Given the description of an element on the screen output the (x, y) to click on. 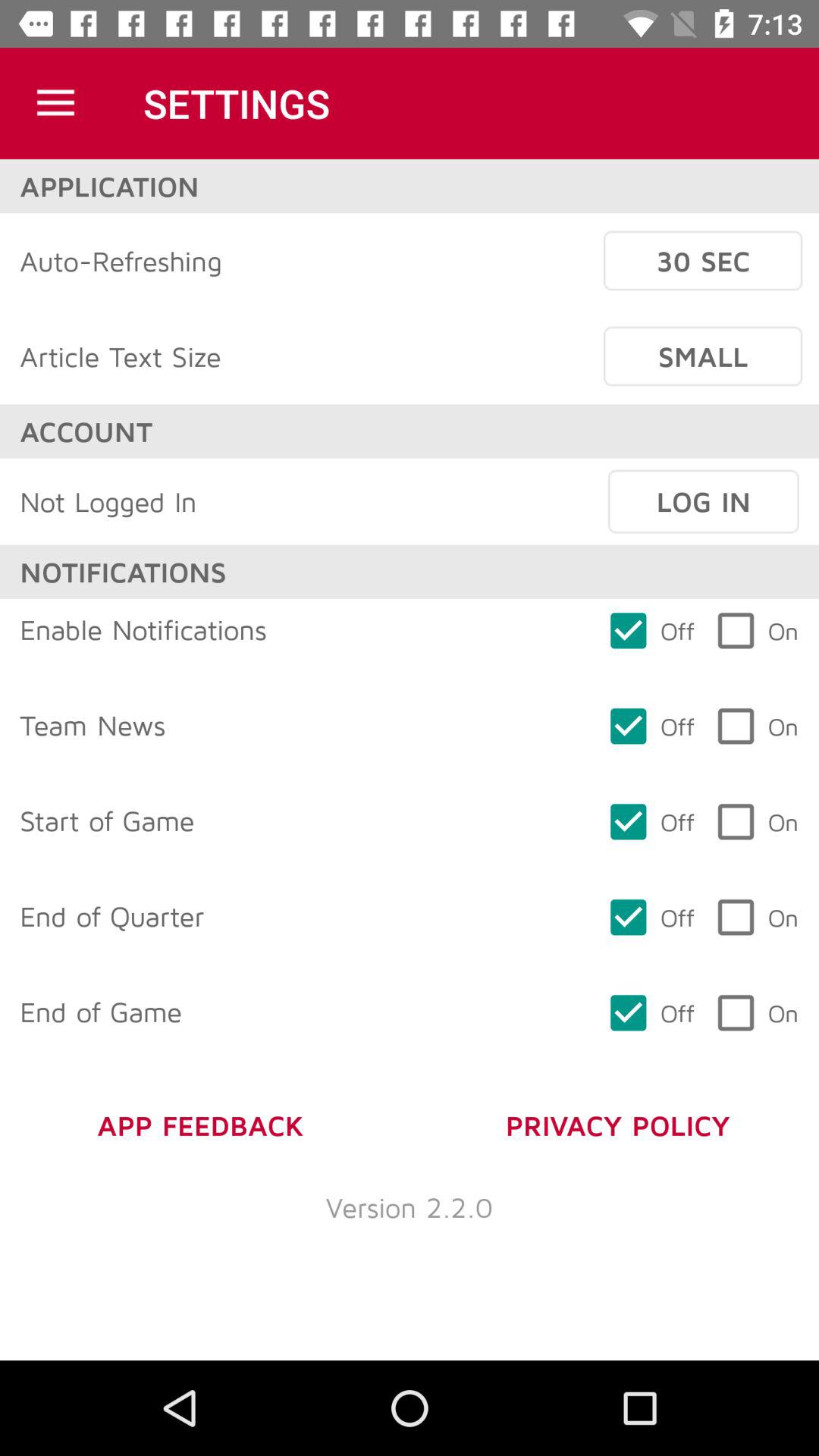
turn off item to the left of settings item (55, 103)
